Given the description of an element on the screen output the (x, y) to click on. 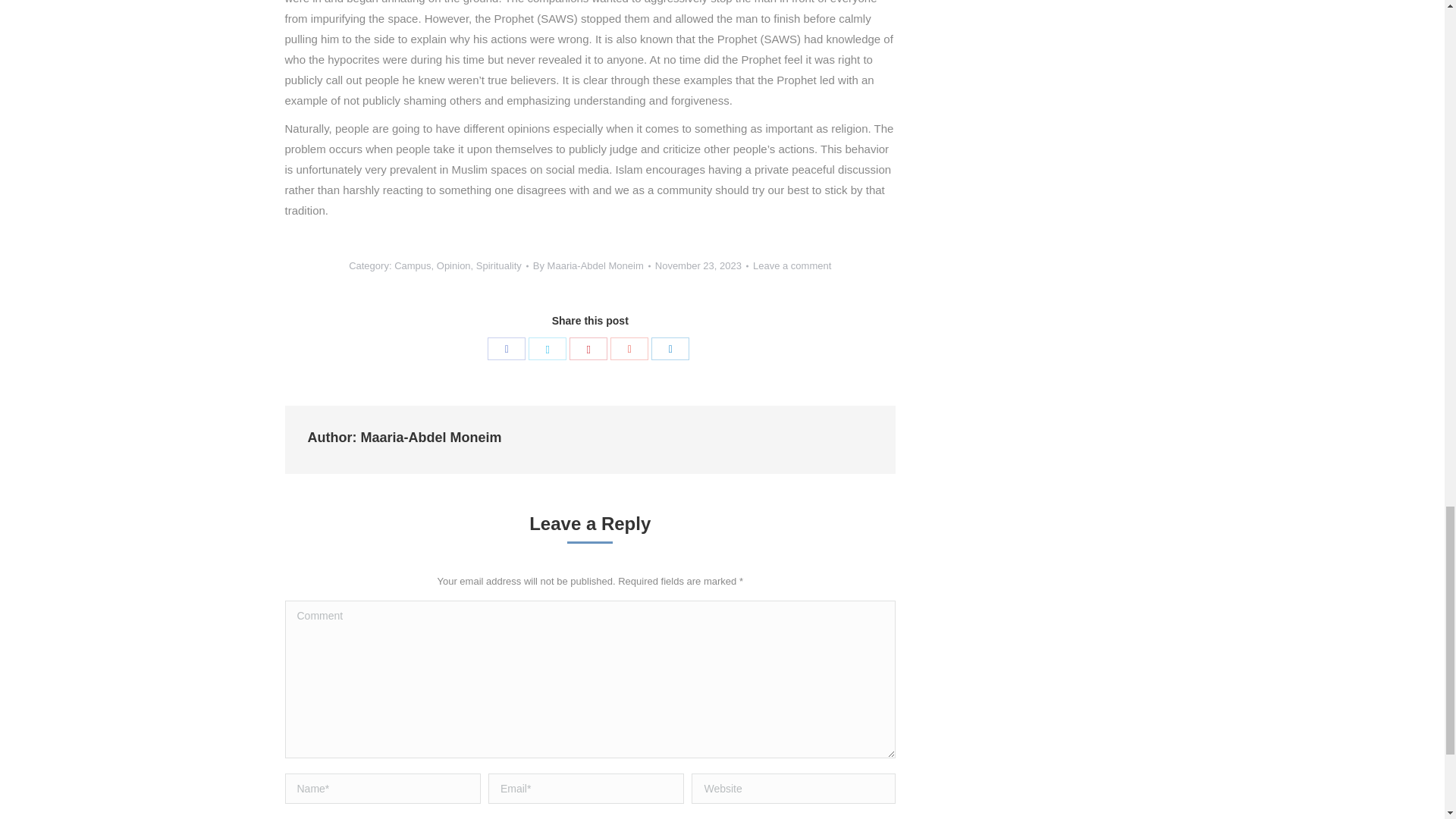
Facebook (506, 348)
November 23, 2023 (701, 265)
LinkedIn (669, 348)
7:23 pm (701, 265)
Campus (412, 265)
View all posts by Maaria-Abdel Moneim (591, 265)
Spirituality (498, 265)
Twitter (547, 348)
Opinion (453, 265)
Leave a comment (791, 265)
By Maaria-Abdel Moneim (591, 265)
Pinterest (588, 348)
